Given the description of an element on the screen output the (x, y) to click on. 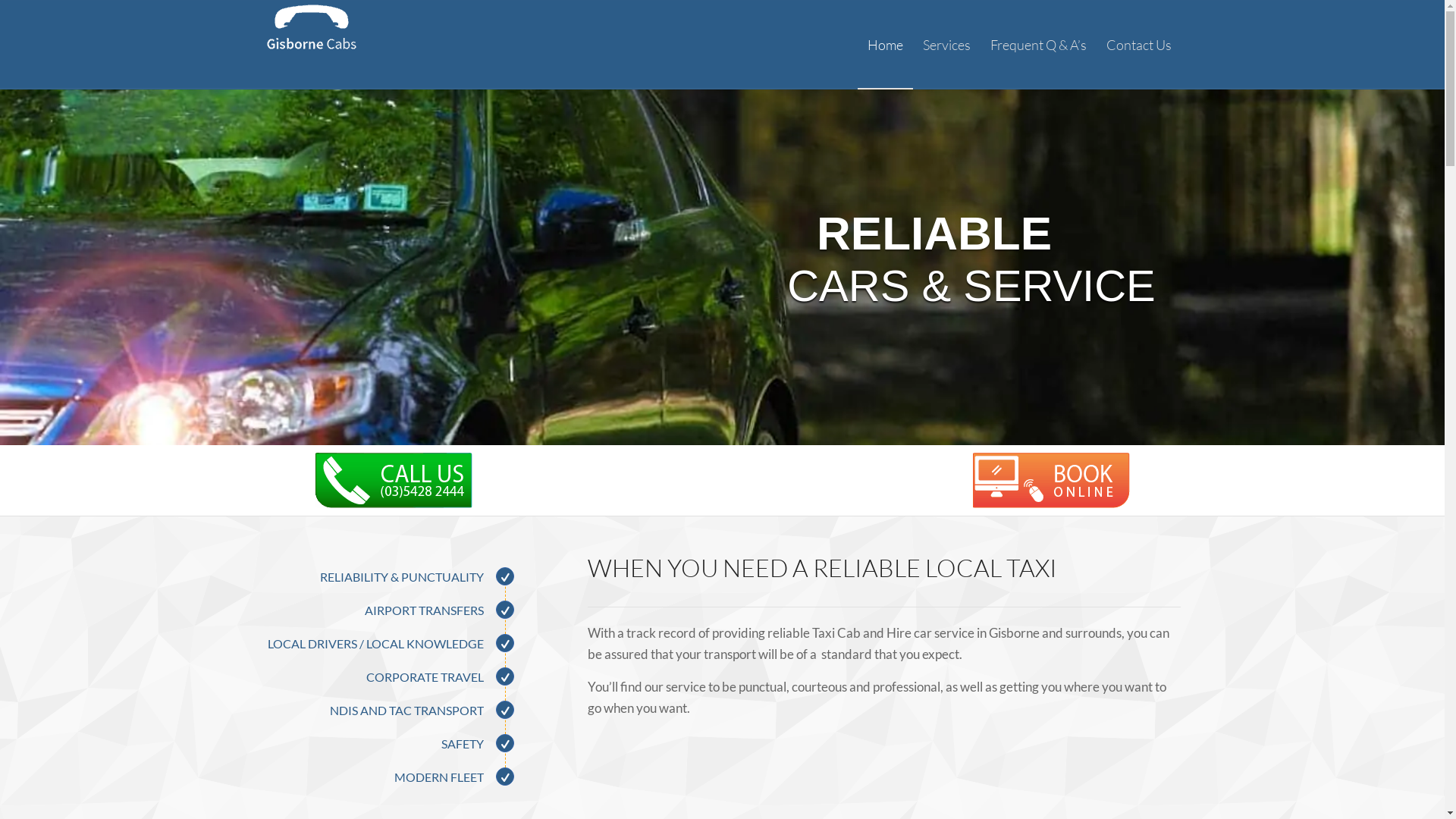
Contact Us Element type: text (1138, 44)
Home Element type: text (884, 44)
Services Element type: text (946, 44)
book online-button Element type: hover (1050, 480)
Gisborne cabs Logo Element type: hover (310, 27)
call-button Element type: hover (393, 480)
Gisborne cabs Logo Element type: hover (310, 44)
